Given the description of an element on the screen output the (x, y) to click on. 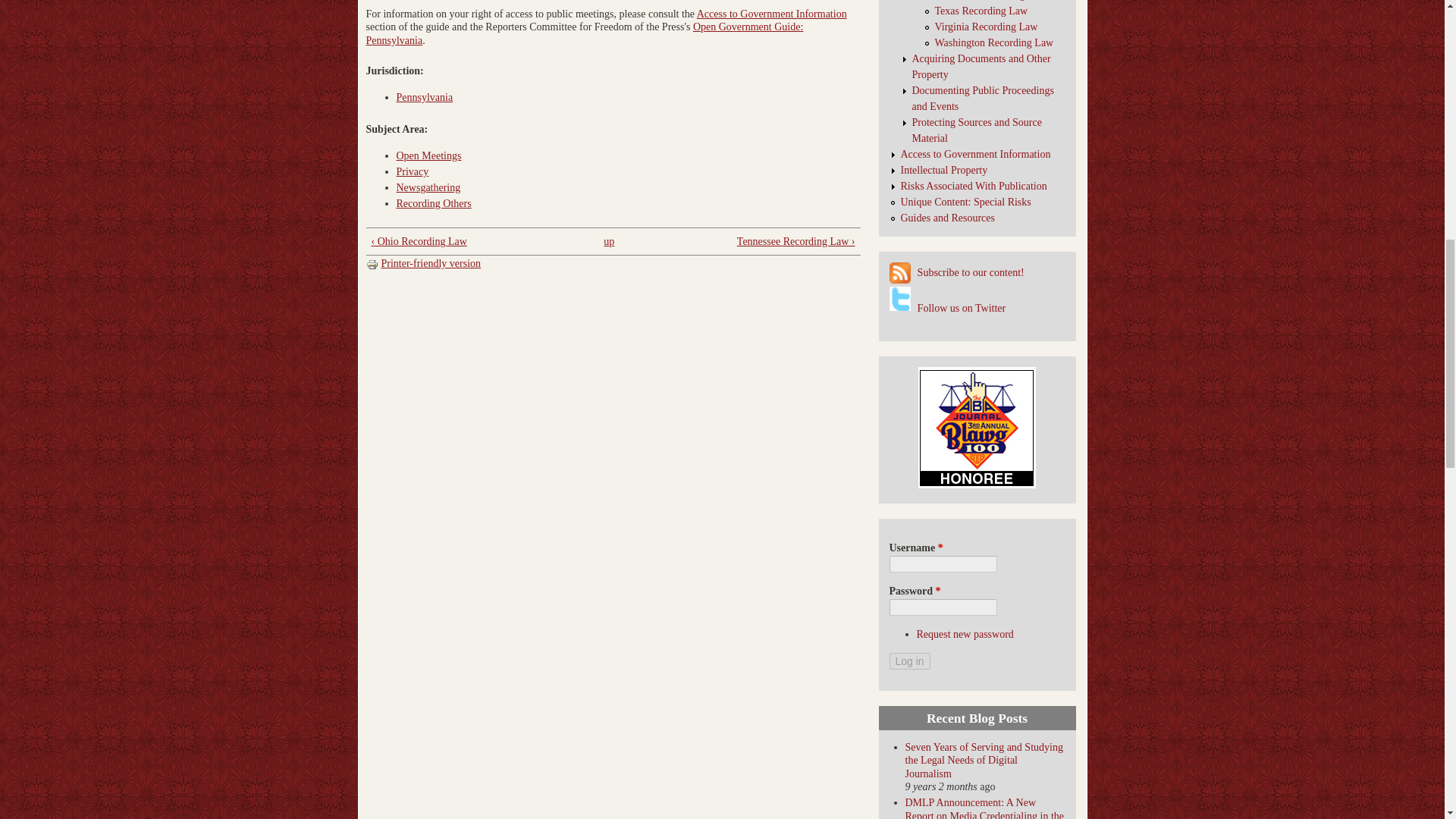
Privacy (412, 171)
Newsgathering (428, 187)
Go to previous page (473, 241)
Recording Others (433, 203)
Pennsylvania (424, 97)
Go to parent page (609, 241)
Open Meetings (428, 155)
Go to next page (754, 241)
Access to Government Information (772, 13)
Log in (909, 660)
Printer-friendly version (422, 263)
up (609, 241)
Printer-friendly version (372, 264)
Open Government Guide: Pennsylvania (584, 33)
